Given the description of an element on the screen output the (x, y) to click on. 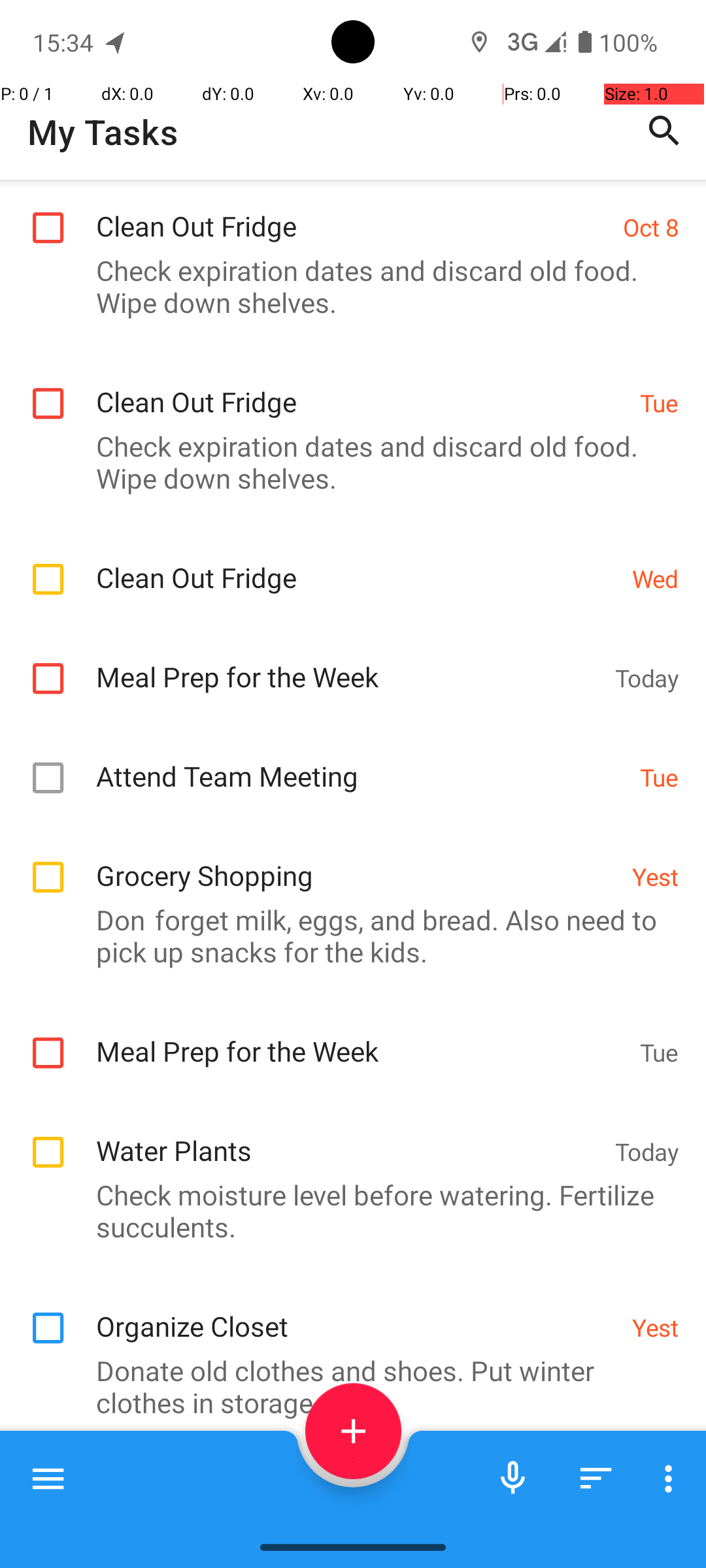
Clean Out Fridge Element type: android.widget.TextView (352, 211)
Check expiration dates and discard old food. Wipe down shelves. Element type: android.widget.TextView (346, 285)
Oct 8 Element type: android.widget.TextView (650, 226)
Meal Prep for the Week Element type: android.widget.TextView (348, 662)
Attend Team Meeting Element type: android.widget.TextView (361, 761)
Grocery Shopping Element type: android.widget.TextView (357, 861)
Don	 forget milk, eggs, and bread. Also need to pick up snacks for the kids. Element type: android.widget.TextView (346, 935)
Water Plants Element type: android.widget.TextView (348, 1136)
Check moisture level before watering. Fertilize succulents. Element type: android.widget.TextView (346, 1210)
Organize Closet Element type: android.widget.TextView (357, 1311)
Donate old clothes and shoes. Put winter clothes in storage. Element type: android.widget.TextView (346, 1386)
Change Air Filter Element type: android.widget.TextView (360, 1487)
